Given the description of an element on the screen output the (x, y) to click on. 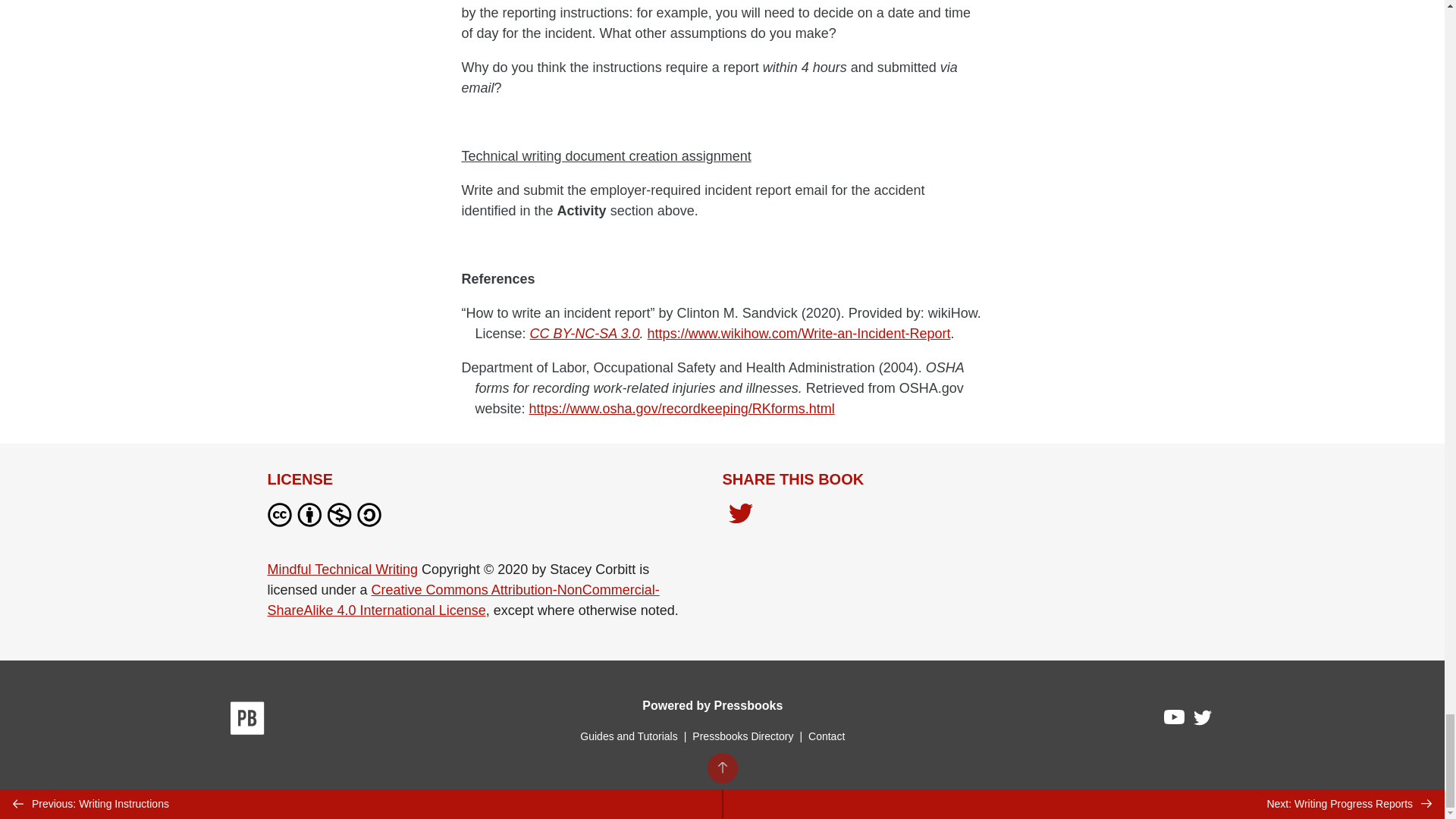
Powered by Pressbooks (712, 705)
Guides and Tutorials (627, 736)
Share on Twitter (740, 514)
Pressbooks Directory (742, 736)
Pressbooks on YouTube (1174, 721)
Mindful Technical Writing (341, 569)
Share on Twitter (740, 517)
Contact (826, 736)
CC BY-NC-SA 3.0 (584, 333)
